Given the description of an element on the screen output the (x, y) to click on. 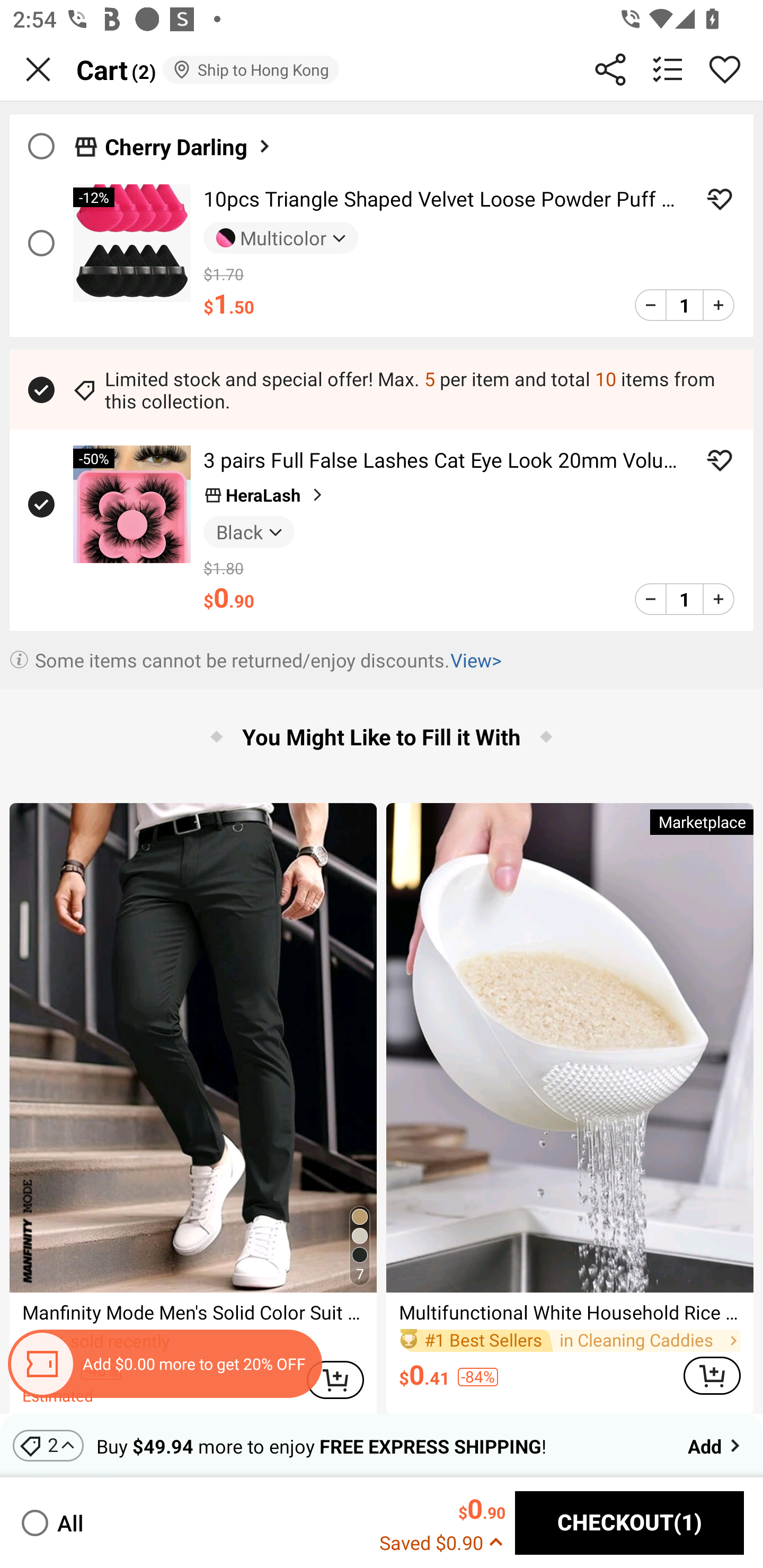
BACK (38, 68)
Wishlist (724, 68)
Share (610, 68)
batch delete (667, 68)
Ship to Hong Kong (250, 68)
Cherry Darling (189, 146)
ADD TO WISHLIST (719, 199)
 Multicolor (280, 238)
product quantity minus 1 (650, 304)
1 edit product quantity (684, 304)
product quantity add 1 (718, 304)
ADD TO WISHLIST (719, 460)
HeraLash (264, 494)
Black (248, 531)
product quantity minus 1 (650, 598)
1 edit product quantity (684, 598)
product quantity add 1 (718, 598)
#1 Best Sellers in Cleaning Caddies (569, 1340)
Coupon Alert Add $0.00 more to get 20% OFF (164, 1363)
ADD TO CART (711, 1375)
ADD TO CART (334, 1379)
2 (48, 1445)
Add (715, 1445)
CHECKOUT(1) (629, 1523)
All (51, 1522)
